Given the description of an element on the screen output the (x, y) to click on. 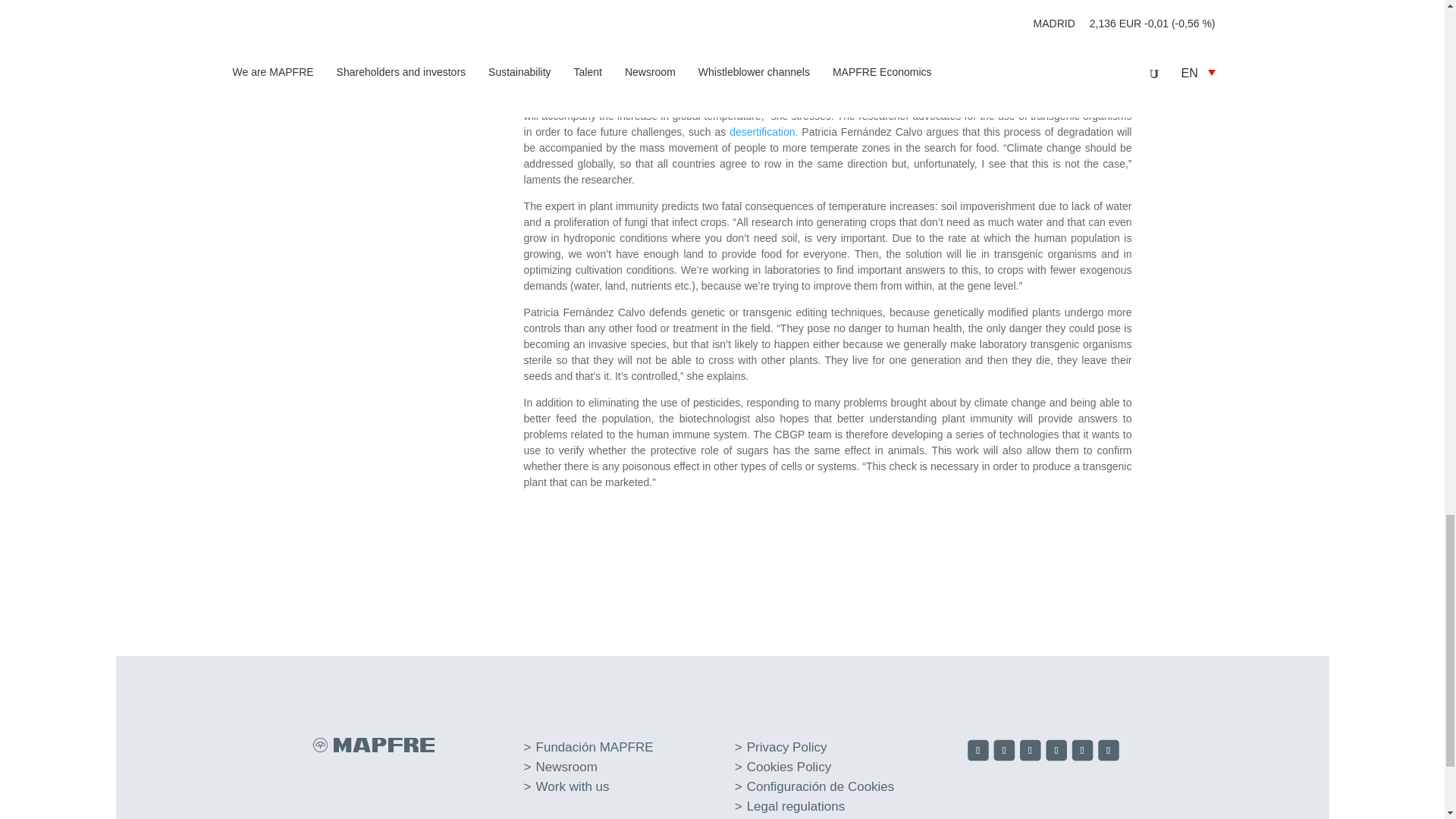
Follow on Youtube (1083, 752)
Follow on Facebook (979, 752)
Work with us (572, 786)
Follow on Spotify (1109, 752)
Follow on Instagram (1031, 752)
Follow on LinkedIn (1057, 752)
